Given the description of an element on the screen output the (x, y) to click on. 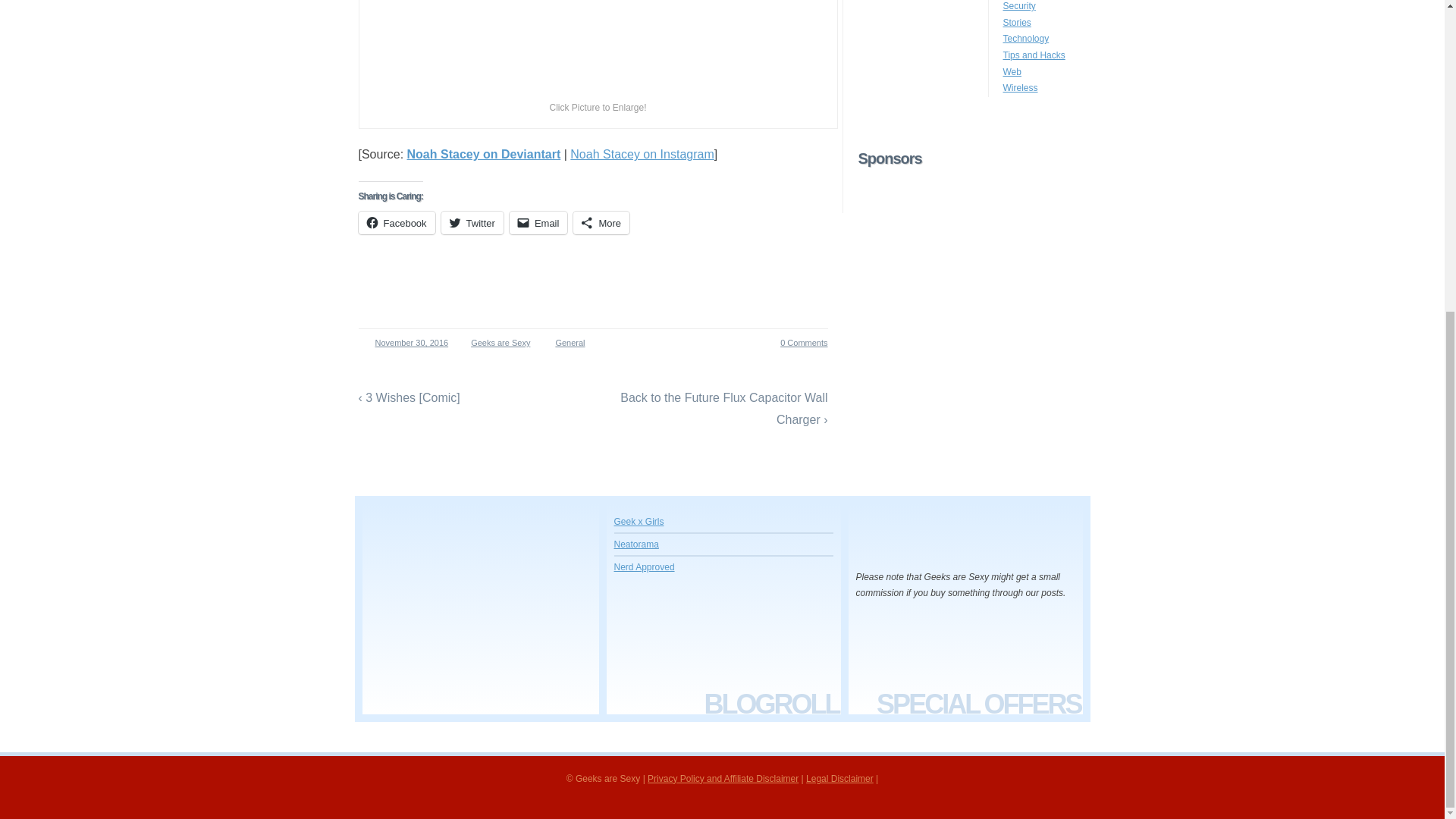
0 Comments (794, 342)
Noah Stacey on Deviantart (483, 154)
Facebook (395, 222)
More (600, 222)
Twitter (472, 222)
Email (538, 222)
Geeks are Sexy (496, 342)
Noah Stacey on Instagram (641, 154)
General (569, 342)
November 30, 2016 (406, 342)
